Given the description of an element on the screen output the (x, y) to click on. 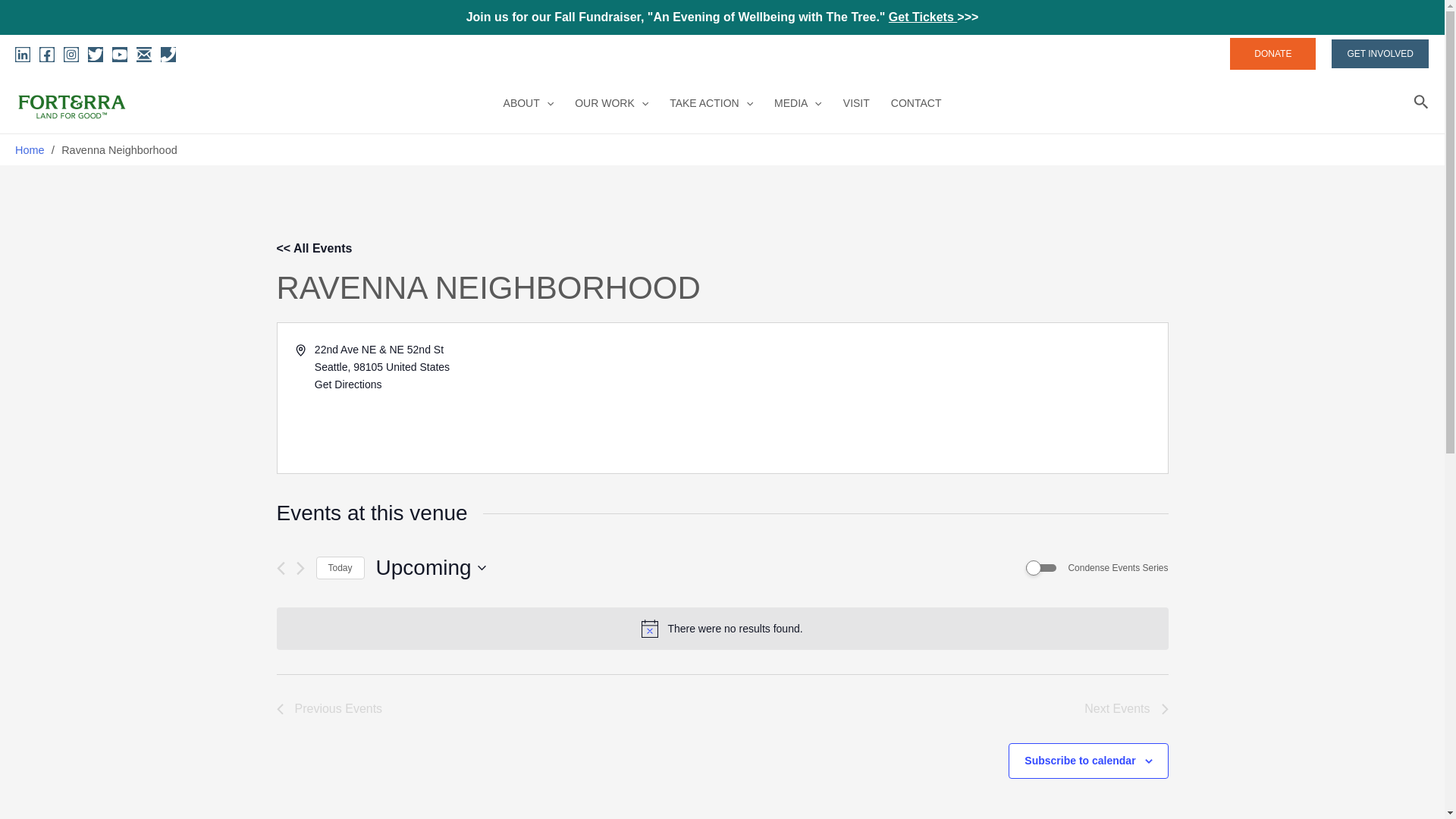
Next Events (299, 568)
ABOUT (528, 102)
TAKE ACTION (710, 102)
Previous Events (279, 568)
DONATE (1273, 53)
OUR WORK (611, 102)
Next Events (1125, 709)
Previous Events (328, 709)
on (1041, 567)
Click to select today's date (339, 567)
Go to Forterra. (29, 150)
GET INVOLVED (1379, 53)
Click to toggle datepicker (430, 567)
